Given the description of an element on the screen output the (x, y) to click on. 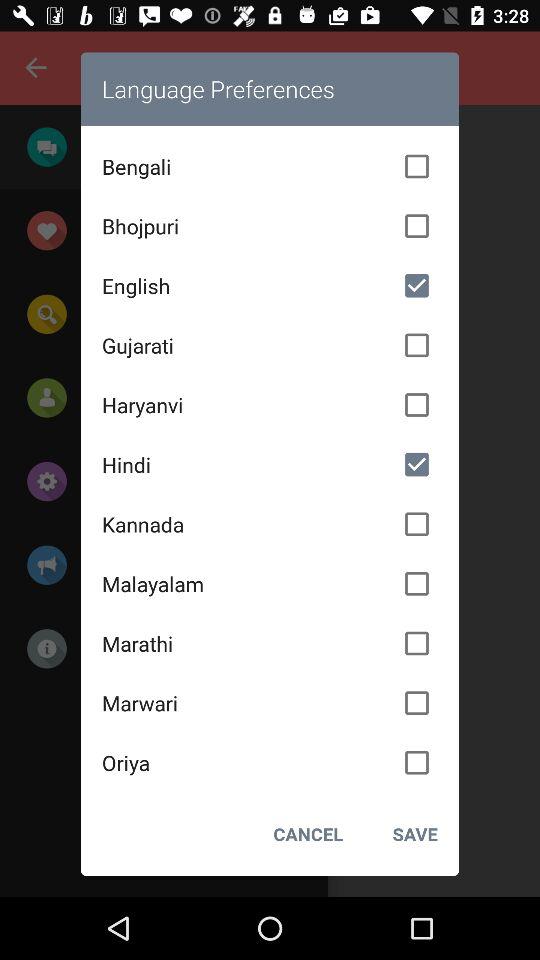
press item above the kannada icon (270, 464)
